Given the description of an element on the screen output the (x, y) to click on. 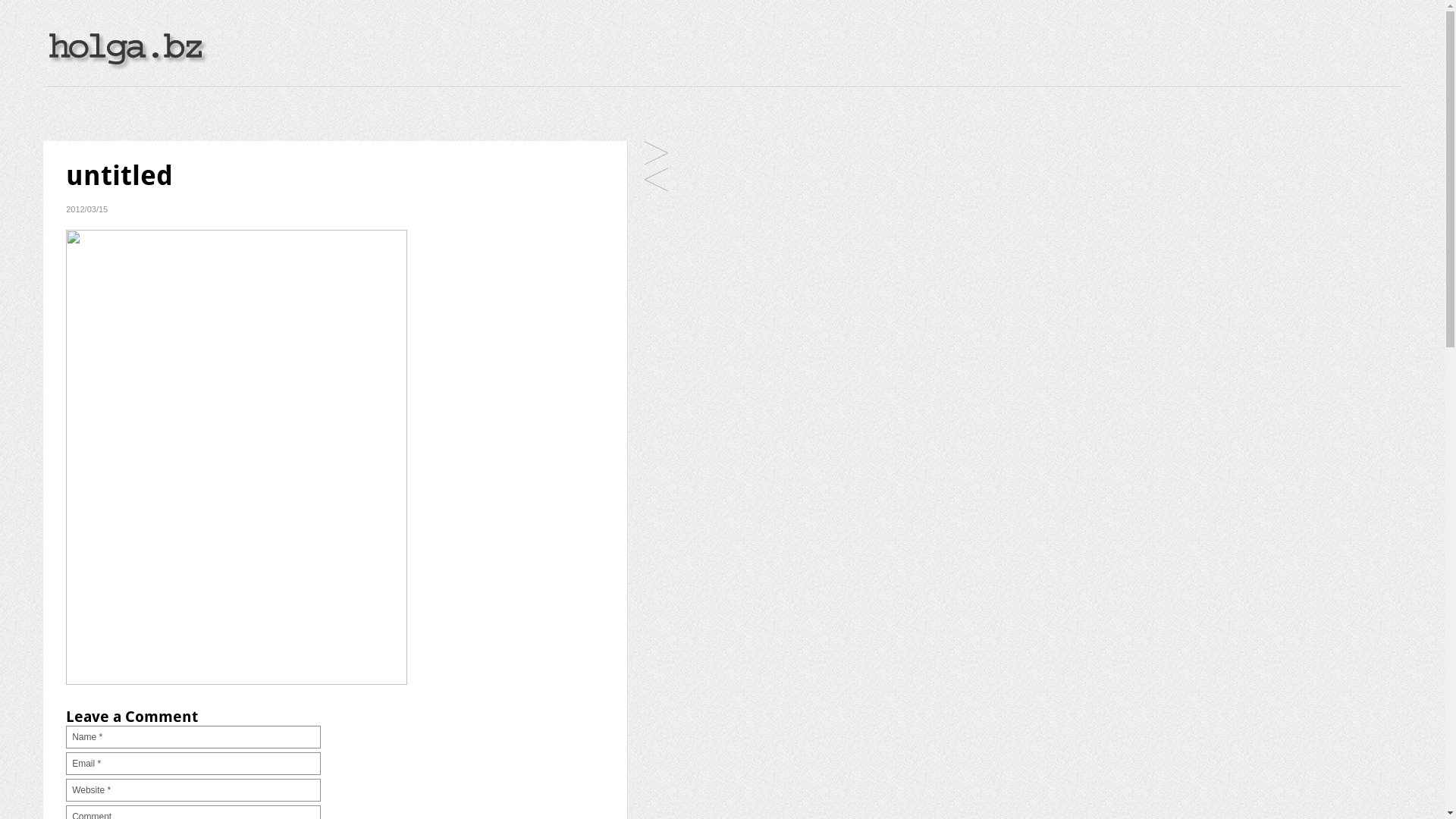
holga.bz Element type: hover (126, 67)
untitled Element type: text (656, 180)
